Given the description of an element on the screen output the (x, y) to click on. 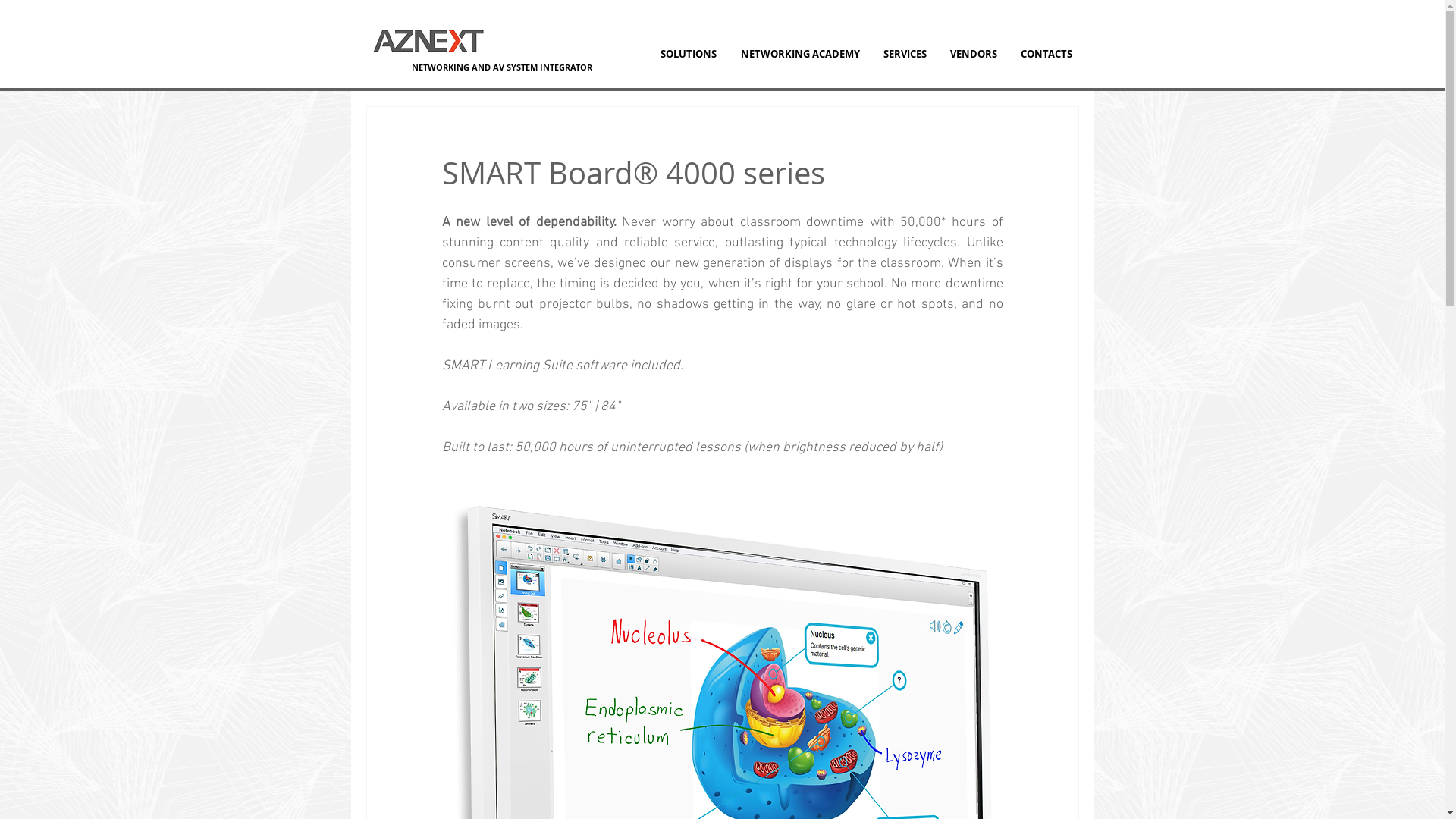
VENDORS Element type: text (973, 53)
SOLUTIONS Element type: text (687, 53)
NETWORKING ACADEMY Element type: text (799, 53)
SERVICES Element type: text (905, 53)
CONTACTS Element type: text (1045, 53)
